Given the description of an element on the screen output the (x, y) to click on. 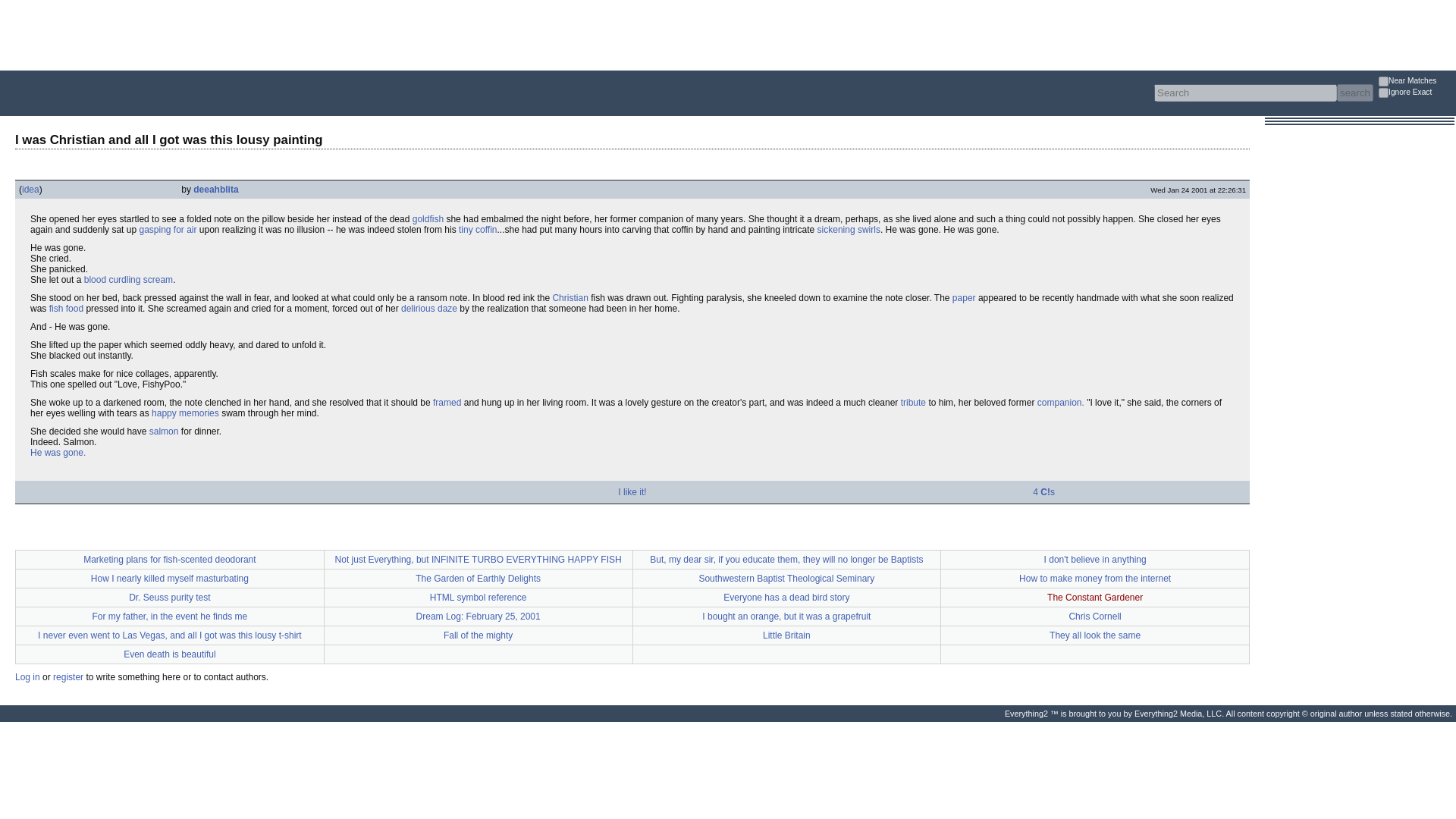
The Garden of Earthly Delights (477, 578)
Dr. Seuss purity test (169, 597)
He was gone. (57, 452)
Marketing plans for fish-scented deodorant (169, 559)
The Constant Gardener (1094, 597)
I don't believe in anything (1095, 559)
tribute (913, 402)
goldfish (428, 218)
blood curdling scream (128, 279)
